Given the description of an element on the screen output the (x, y) to click on. 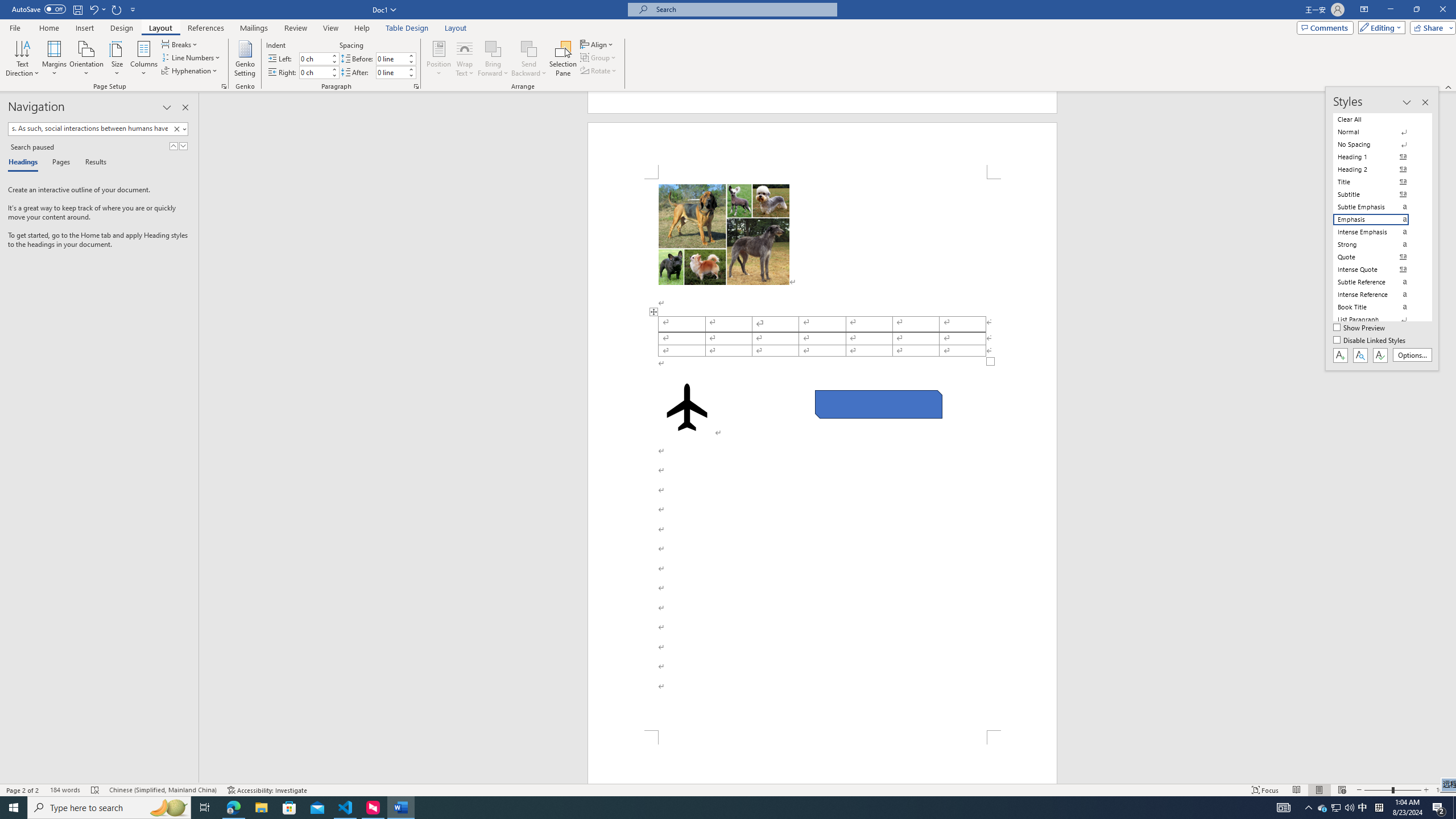
Clear (178, 128)
Line Numbers (191, 56)
Page Number Page 2 of 2 (22, 790)
Undo Style (92, 9)
Margins (54, 58)
Normal (1377, 131)
Indent Right (314, 72)
